Given the description of an element on the screen output the (x, y) to click on. 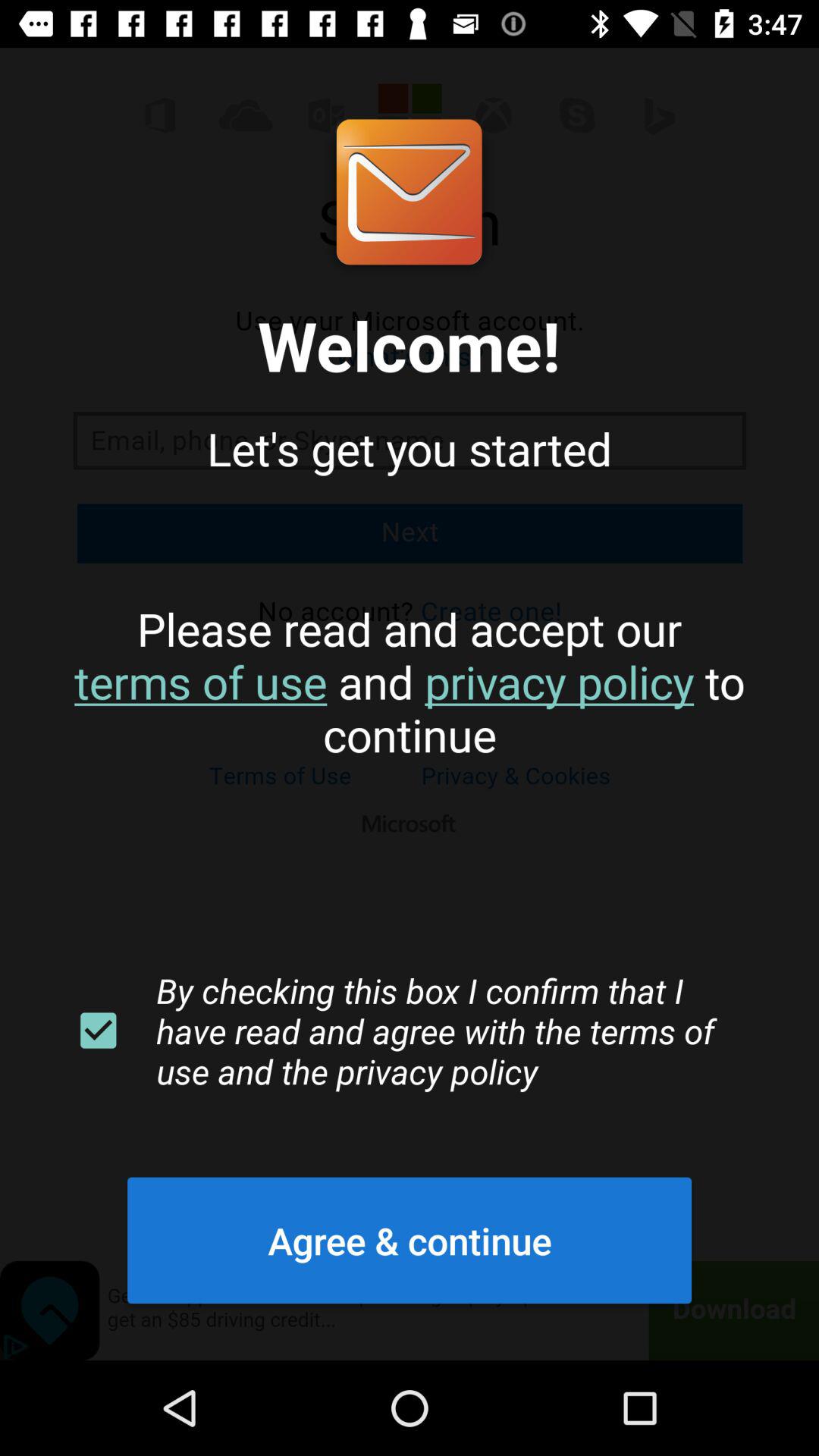
tap item to the left of by checking this item (98, 1030)
